Given the description of an element on the screen output the (x, y) to click on. 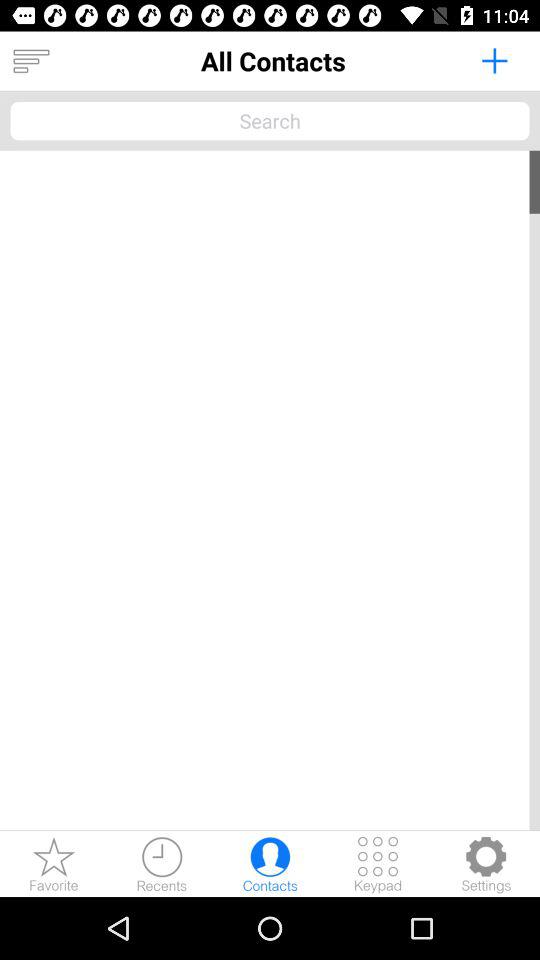
look at recent calls (161, 864)
